Given the description of an element on the screen output the (x, y) to click on. 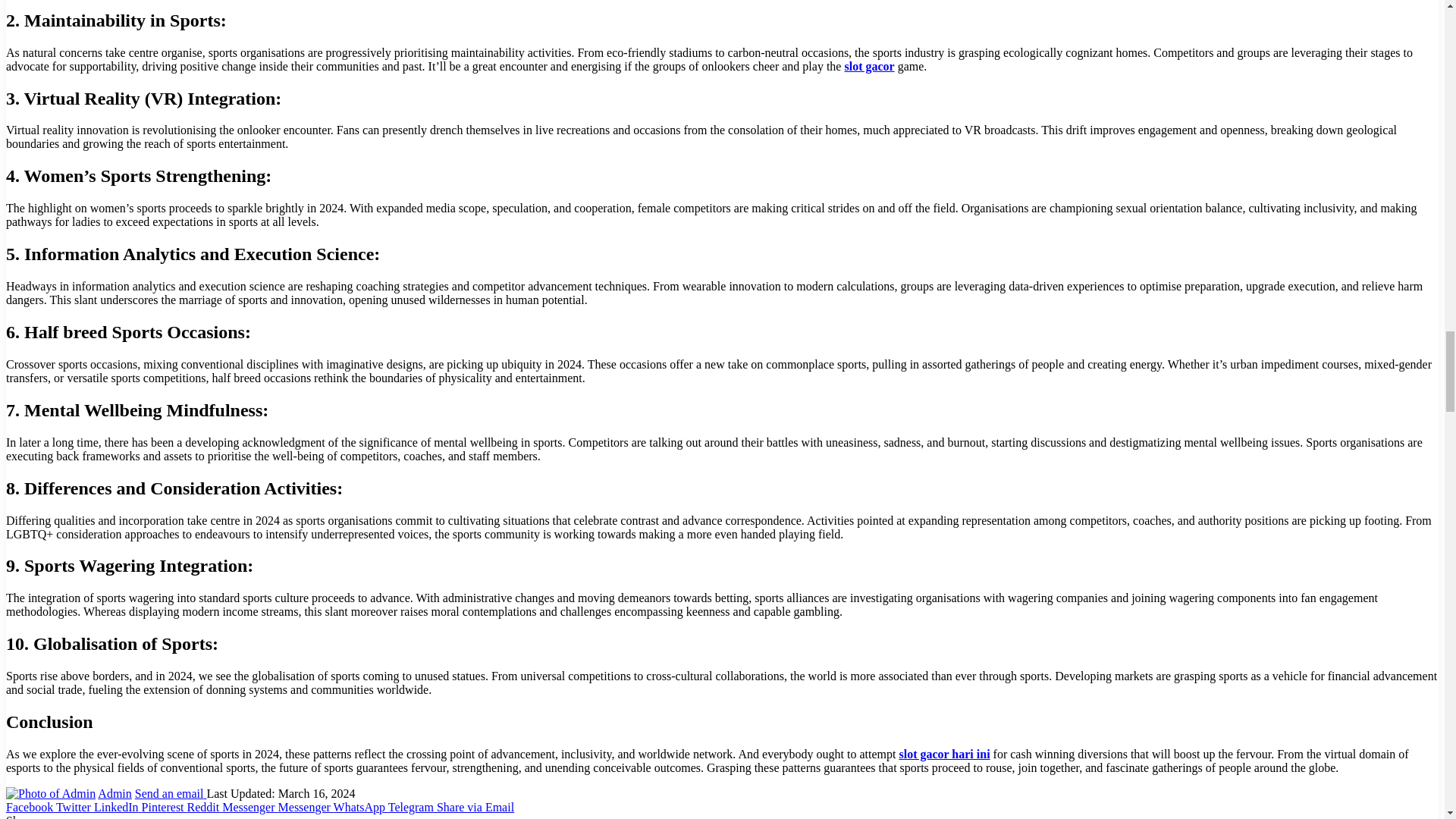
Admin (114, 793)
